Given the description of an element on the screen output the (x, y) to click on. 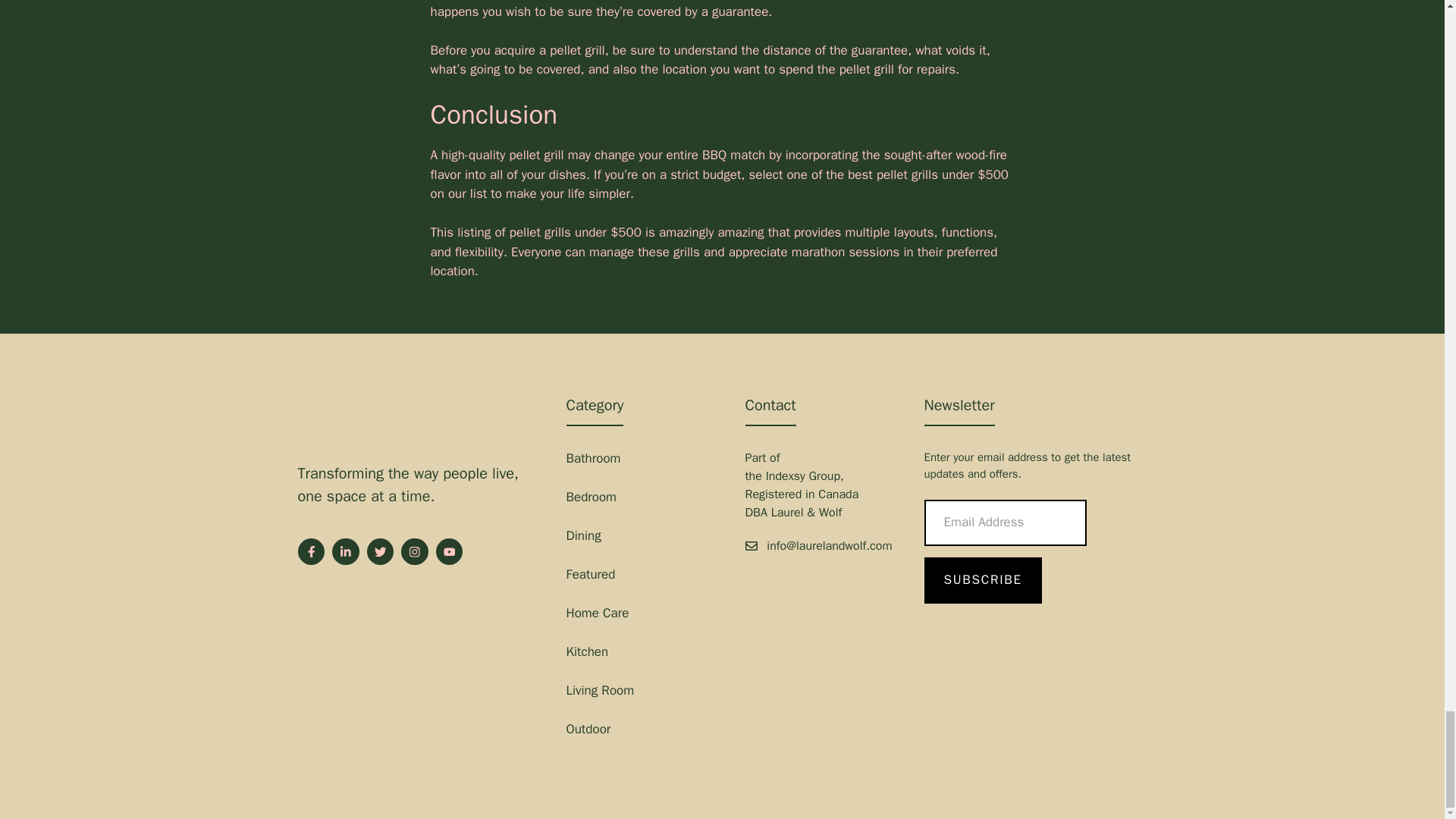
Outdoor (588, 729)
Bedroom (590, 496)
Kitchen (587, 651)
Featured (590, 574)
Dining (582, 535)
Home Care (597, 612)
Bathroom (593, 458)
Living Room (599, 690)
